Given the description of an element on the screen output the (x, y) to click on. 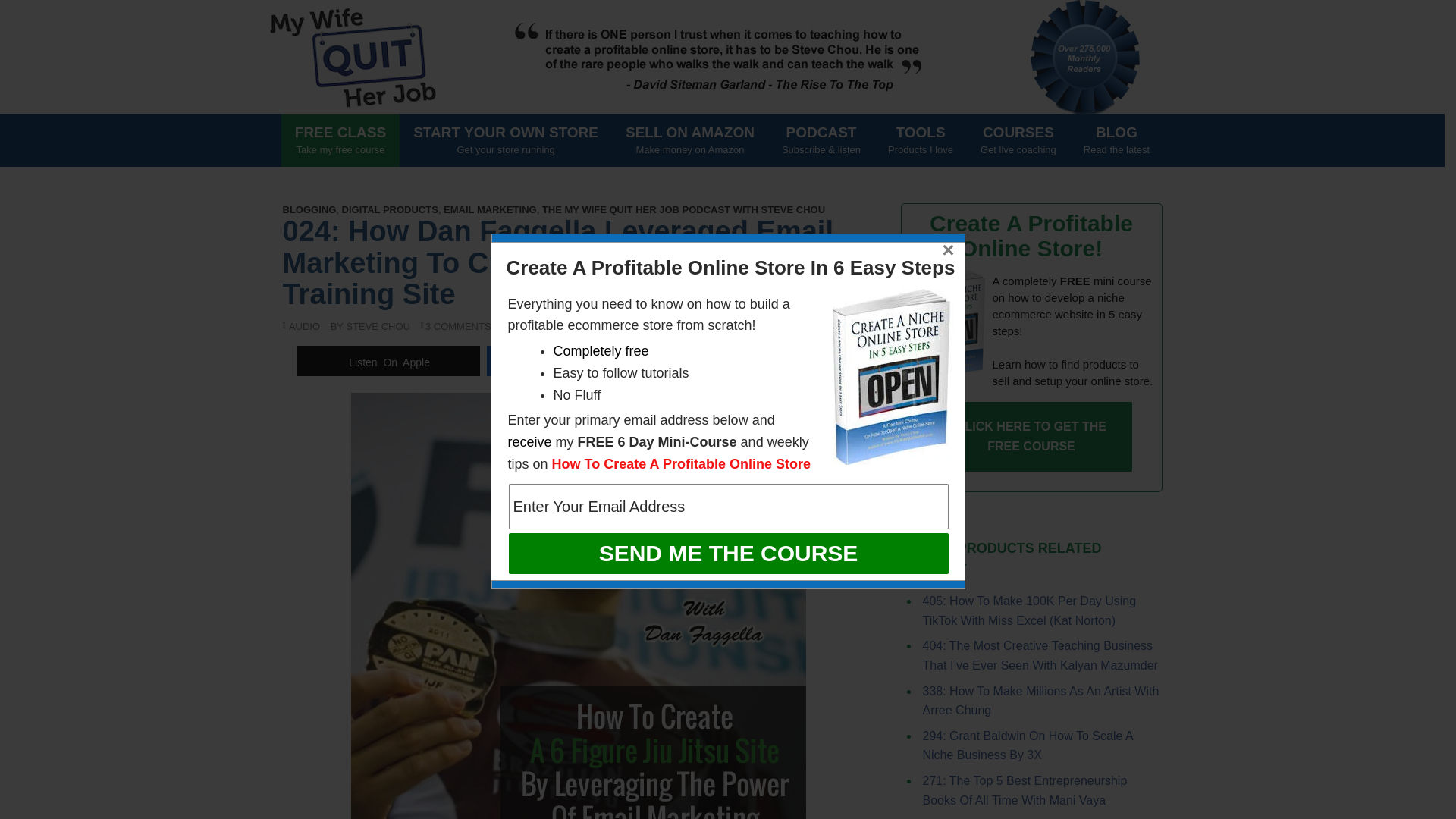
EMAIL MARKETING (689, 140)
 Listen On Spotify (490, 209)
SKIP TO CONTENT (768, 360)
Enter Your Email Address (773, 134)
Send Me The Course (727, 506)
 Listen On Google (727, 552)
 Listen  On  Apple (577, 360)
THE MY WIFE QUIT HER JOB PODCAST WITH STEVE CHOU (388, 360)
MyWifeQuitHerJob.com (683, 209)
Send Me The Course (504, 140)
AUDIO (1116, 140)
